Given the description of an element on the screen output the (x, y) to click on. 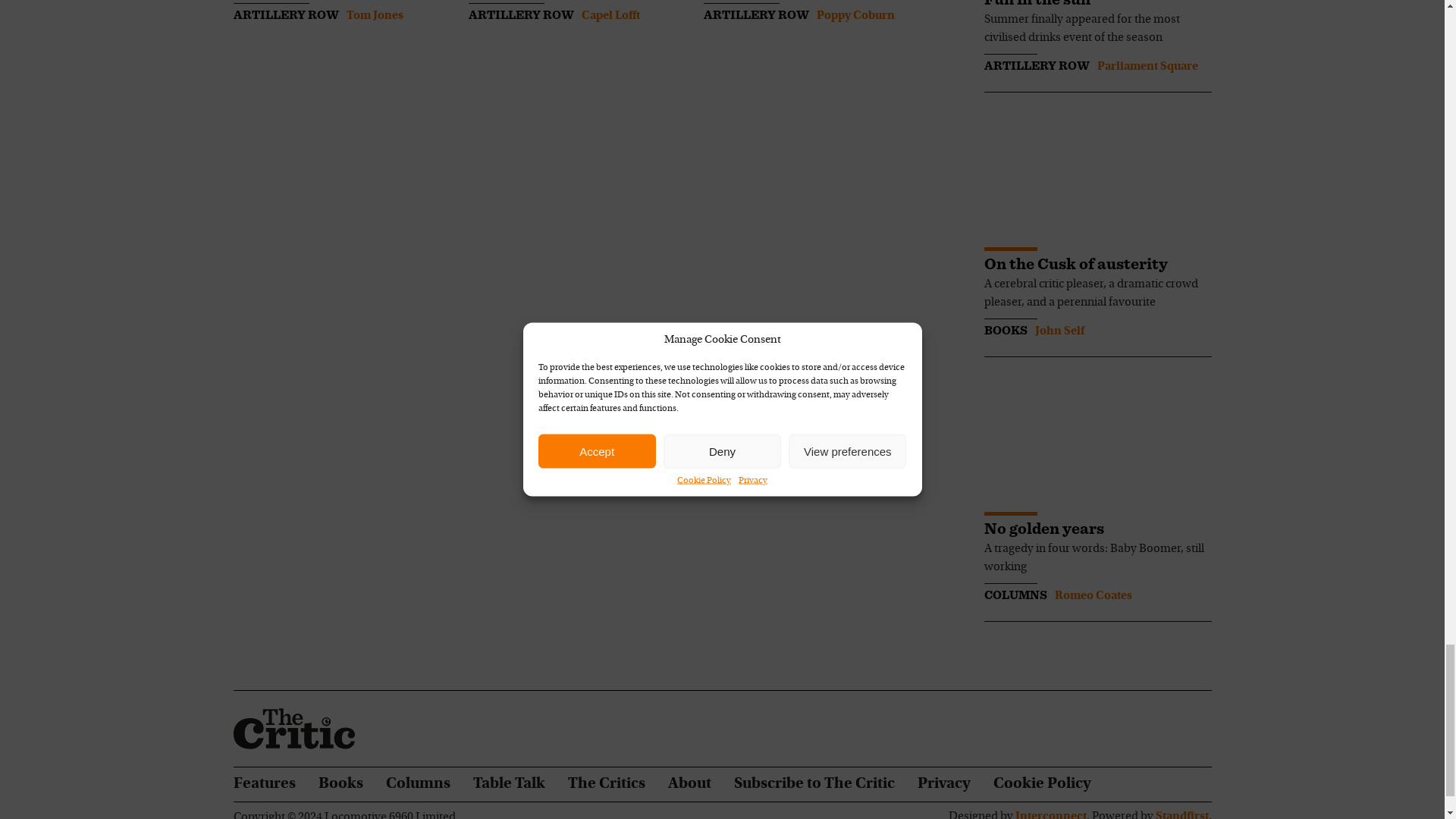
Posts by Parliament Square (1146, 66)
Posts by Capel Lofft (609, 15)
Posts by Romeo Coates (1092, 595)
Posts by John Self (1058, 331)
Posts by Poppy Coburn (854, 15)
Posts by Tom Jones (374, 15)
